Given the description of an element on the screen output the (x, y) to click on. 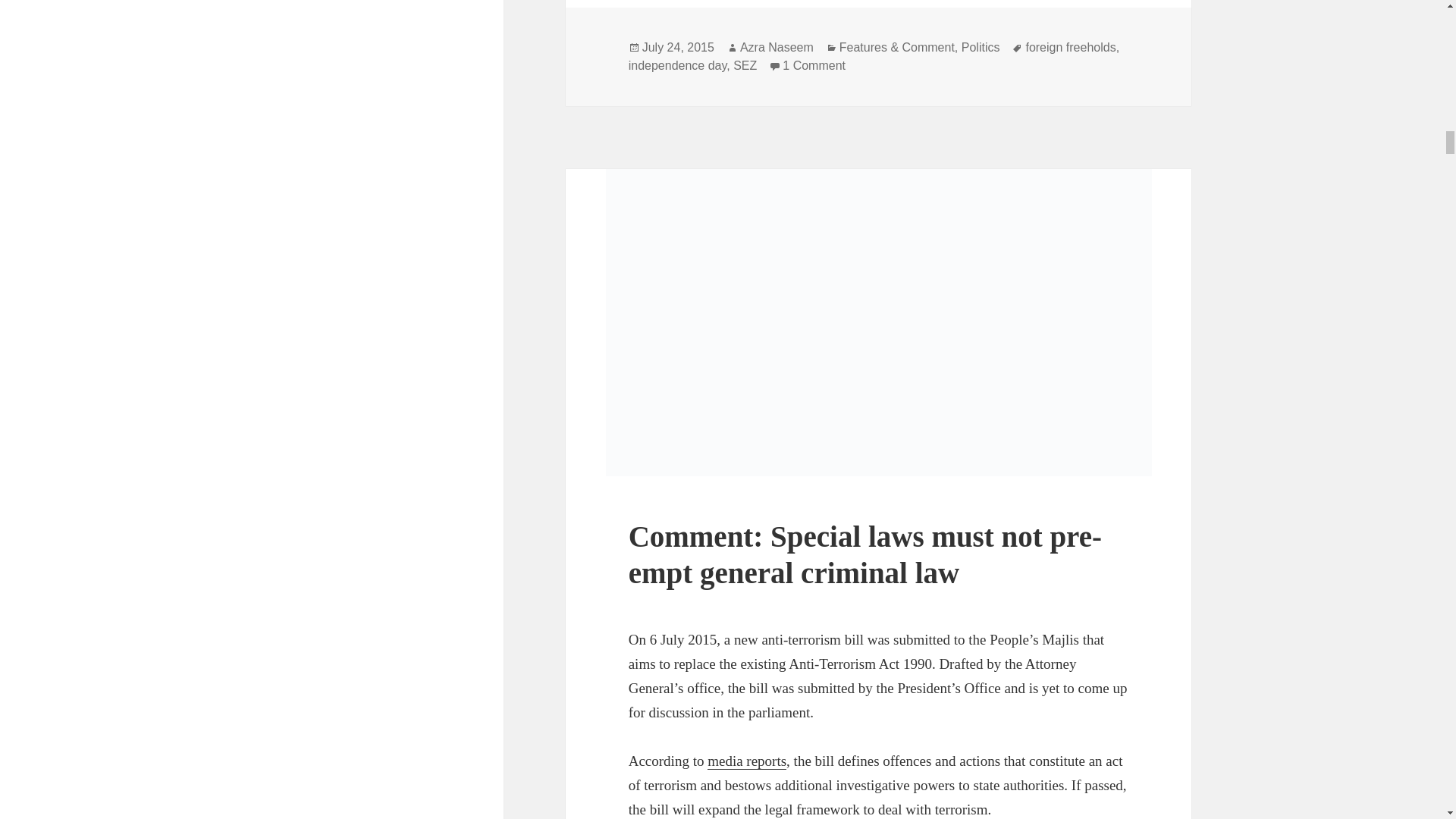
foreign freeholds (1070, 47)
SEZ (745, 65)
July 24, 2015 (678, 47)
Azra Naseem (776, 47)
independence day (814, 65)
Politics (677, 65)
Comment: Special laws must not pre-empt general criminal law (980, 47)
